Given the description of an element on the screen output the (x, y) to click on. 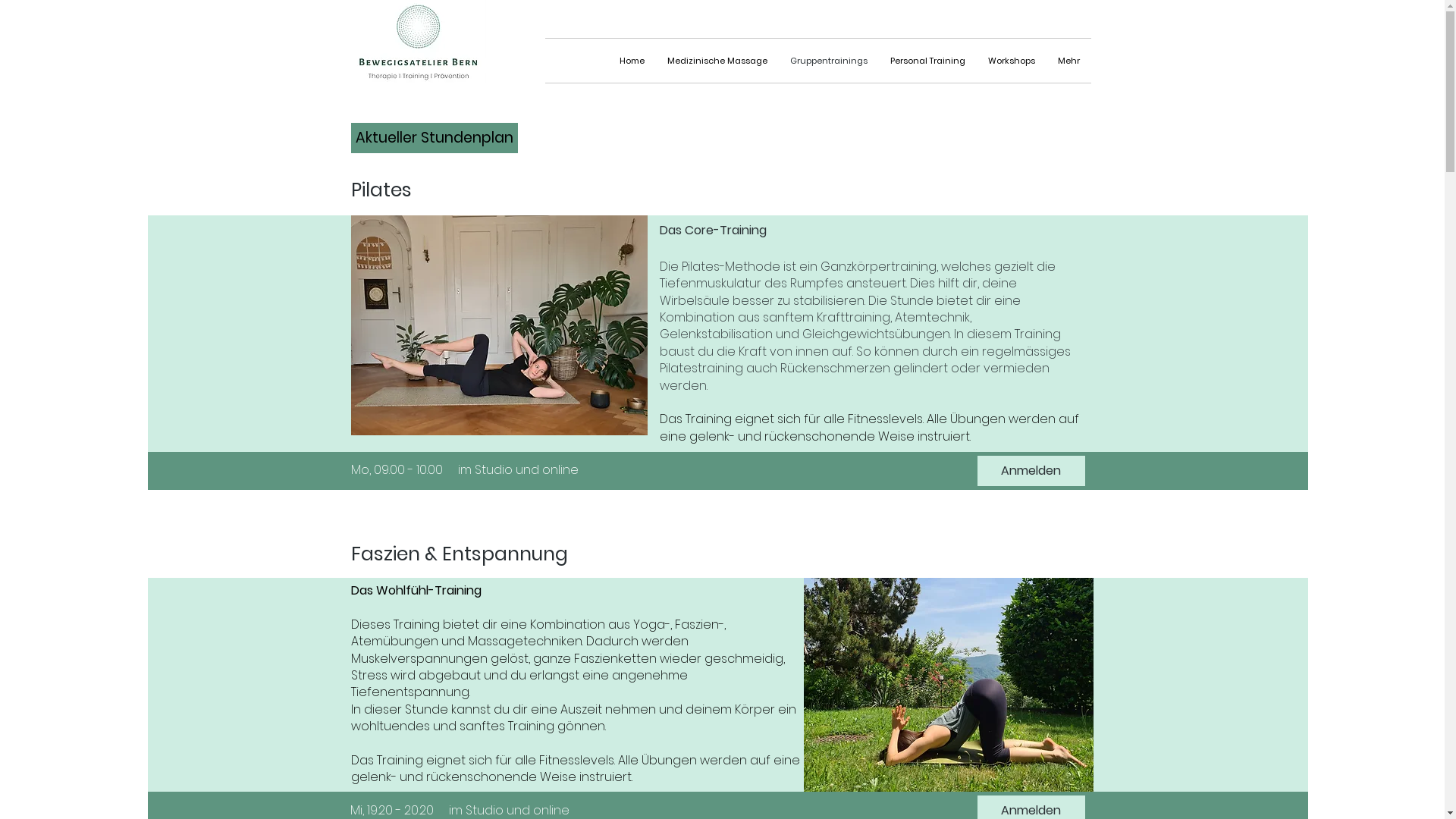
Aktueller Stundenplan Element type: text (433, 137)
Personal Training Element type: text (926, 60)
Anmelden Element type: text (1030, 470)
Medizinische Massage Element type: text (716, 60)
Home Element type: text (631, 60)
Workshops Element type: text (1011, 60)
Gruppentrainings Element type: text (828, 60)
